Given the description of an element on the screen output the (x, y) to click on. 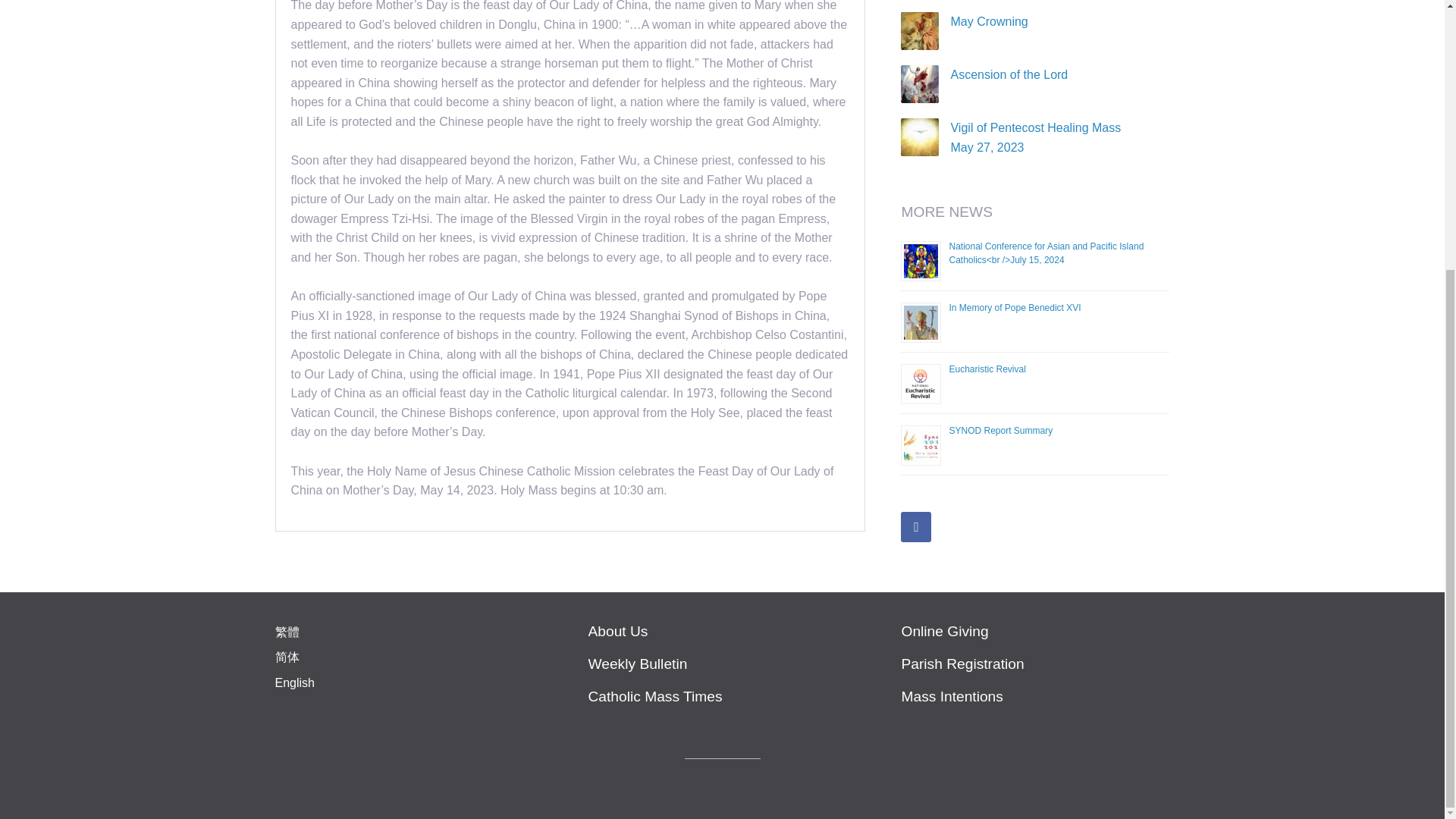
English (294, 682)
Online Giving (1035, 630)
Parish Registration (1035, 663)
SYNOD Report Summary (1000, 430)
About Us (722, 630)
Weekly Bulletin (722, 663)
Facebook (1035, 137)
Ascension of the Lord (916, 526)
May Crowning (1008, 74)
Mass Intentions (988, 21)
In Memory of Pope Benedict XVI (1035, 696)
Eucharistic Revival (1014, 307)
Catholic Mass Times (987, 368)
